Given the description of an element on the screen output the (x, y) to click on. 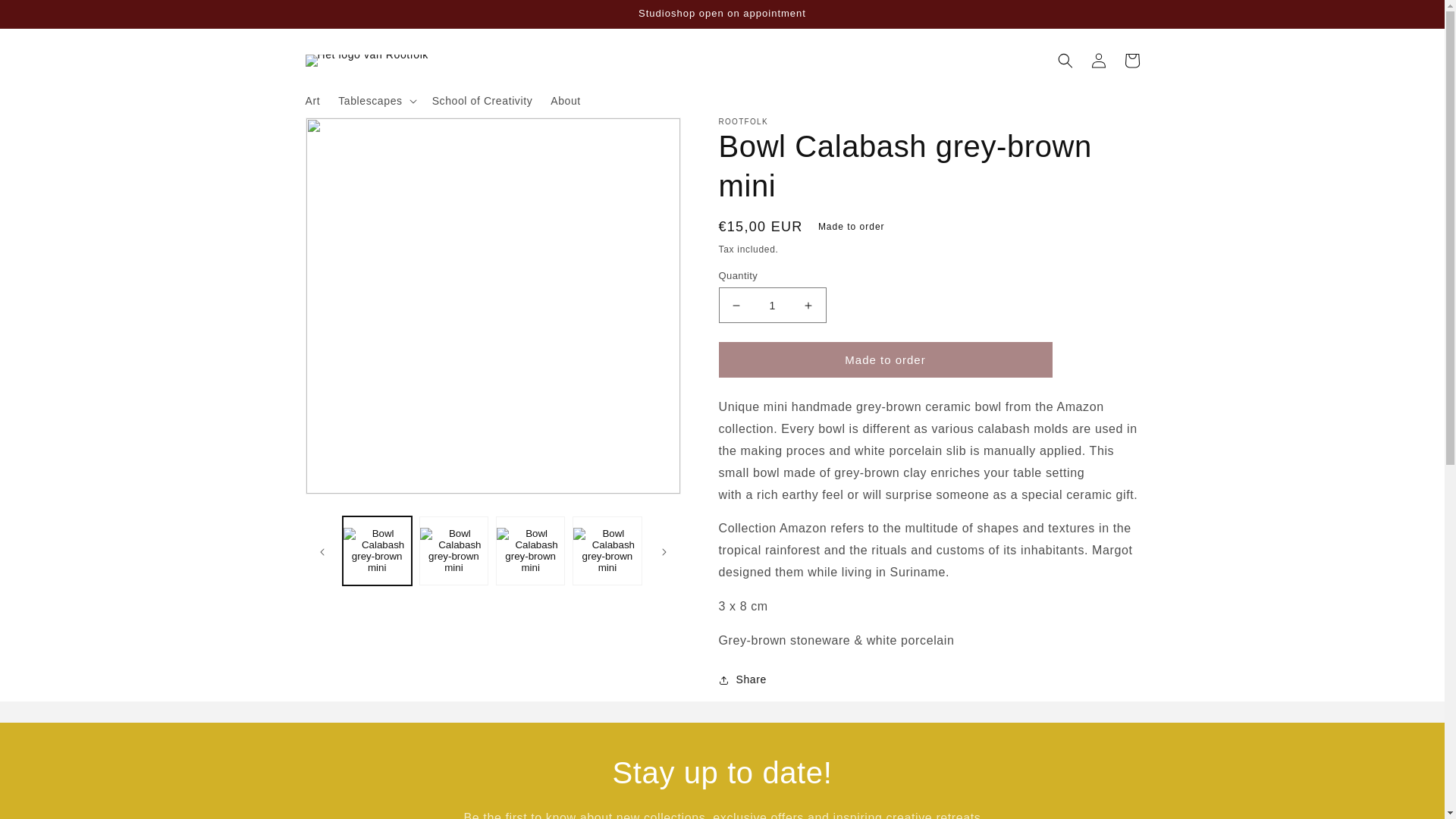
Skip to content (45, 17)
1 (773, 304)
Art (312, 101)
